Given the description of an element on the screen output the (x, y) to click on. 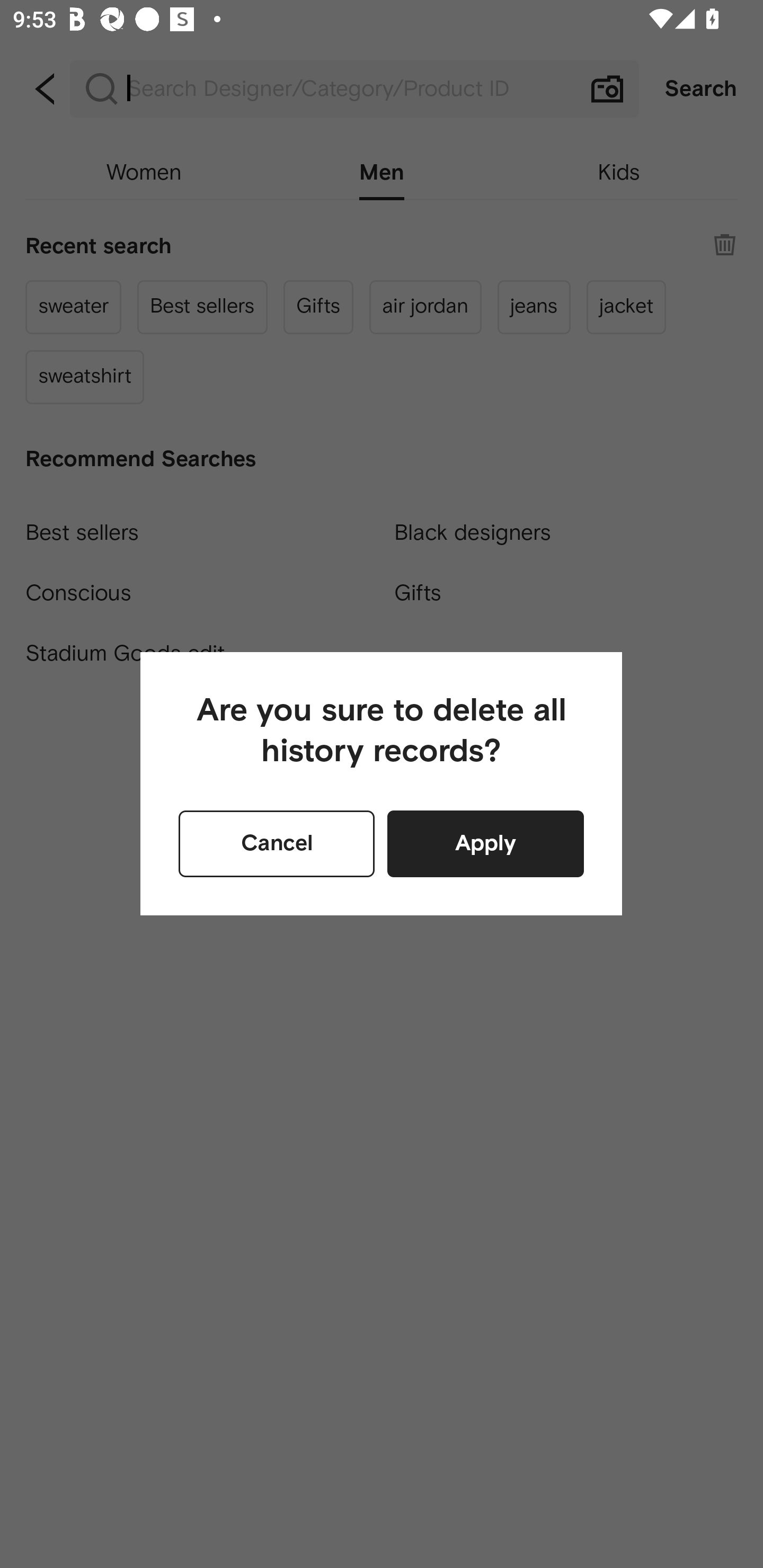
Cancel (276, 843)
Apply (485, 843)
